Given the description of an element on the screen output the (x, y) to click on. 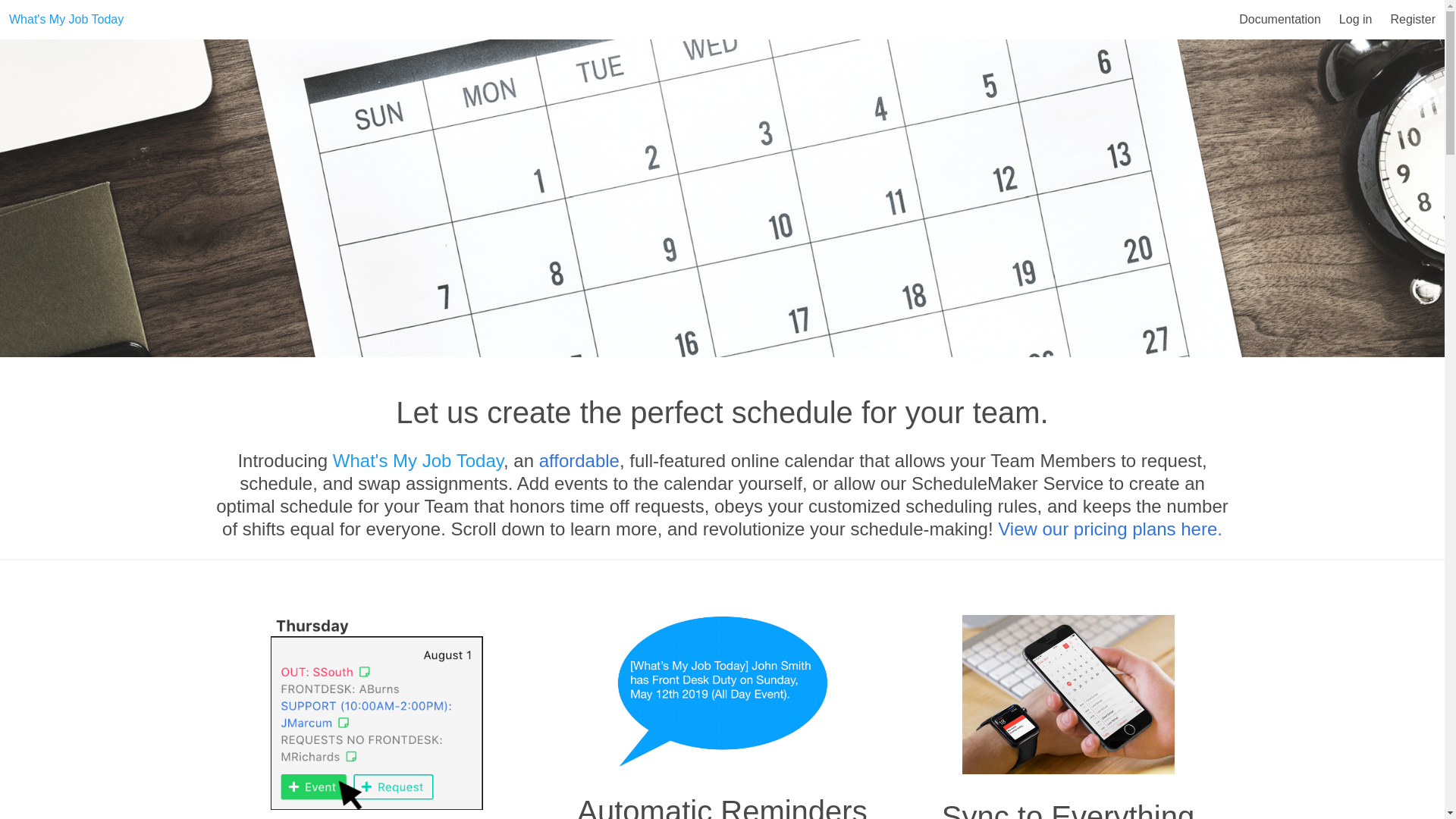
affordable (579, 460)
Documentation (1280, 19)
View our pricing plans here. (1110, 528)
What's My Job Today (66, 19)
Log in (1355, 19)
